Given the description of an element on the screen output the (x, y) to click on. 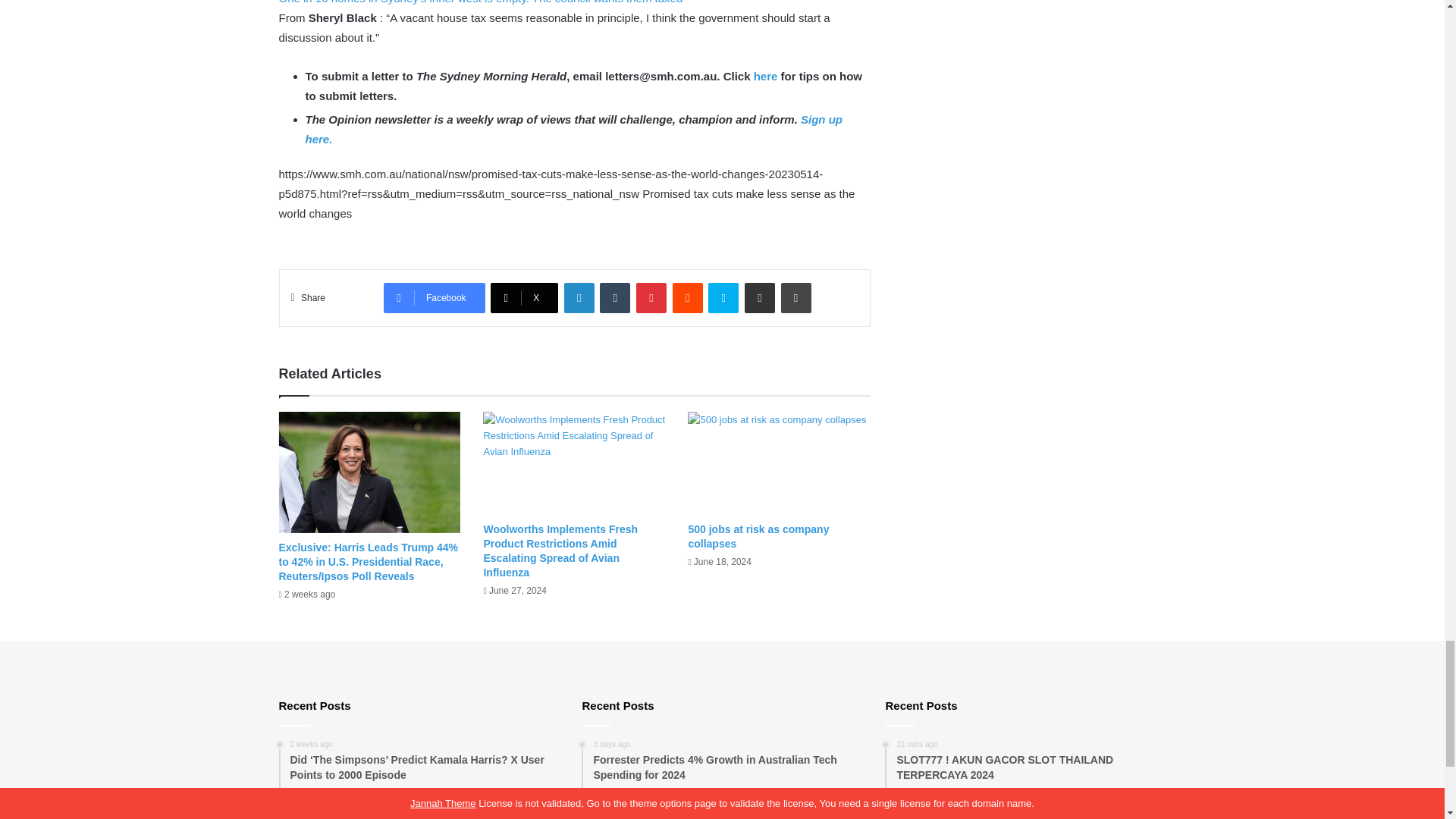
Tumblr (614, 297)
LinkedIn (579, 297)
X (523, 297)
Facebook (434, 297)
Pinterest (651, 297)
Skype (722, 297)
Reddit (687, 297)
